Given the description of an element on the screen output the (x, y) to click on. 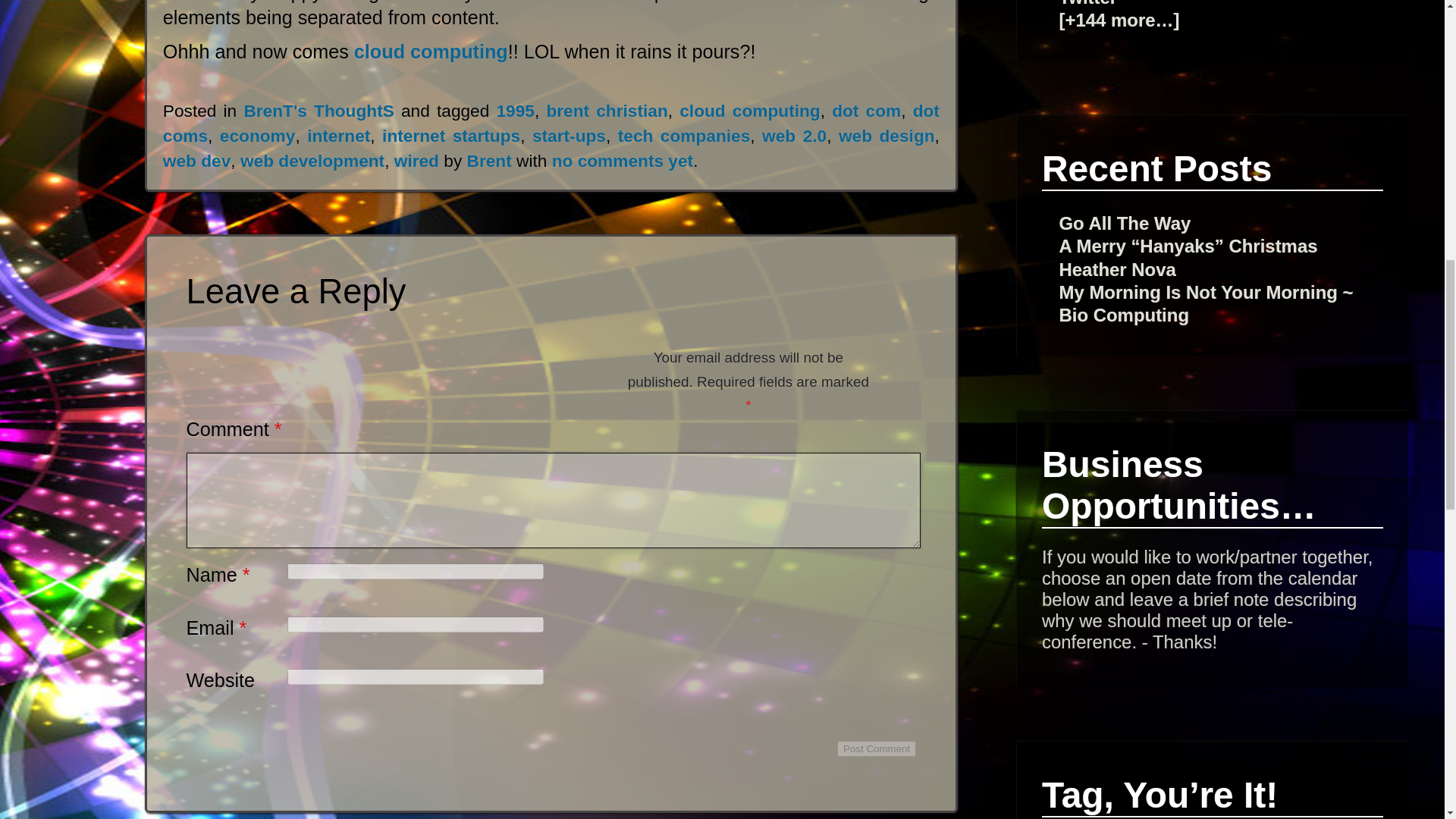
internet (338, 135)
tech companies (684, 135)
Post Comment (876, 748)
web development (312, 160)
internet startups (450, 135)
wired (416, 160)
start-ups (568, 135)
web dev (196, 160)
BrenT's ThoughtS (318, 110)
1995 (515, 110)
